Given the description of an element on the screen output the (x, y) to click on. 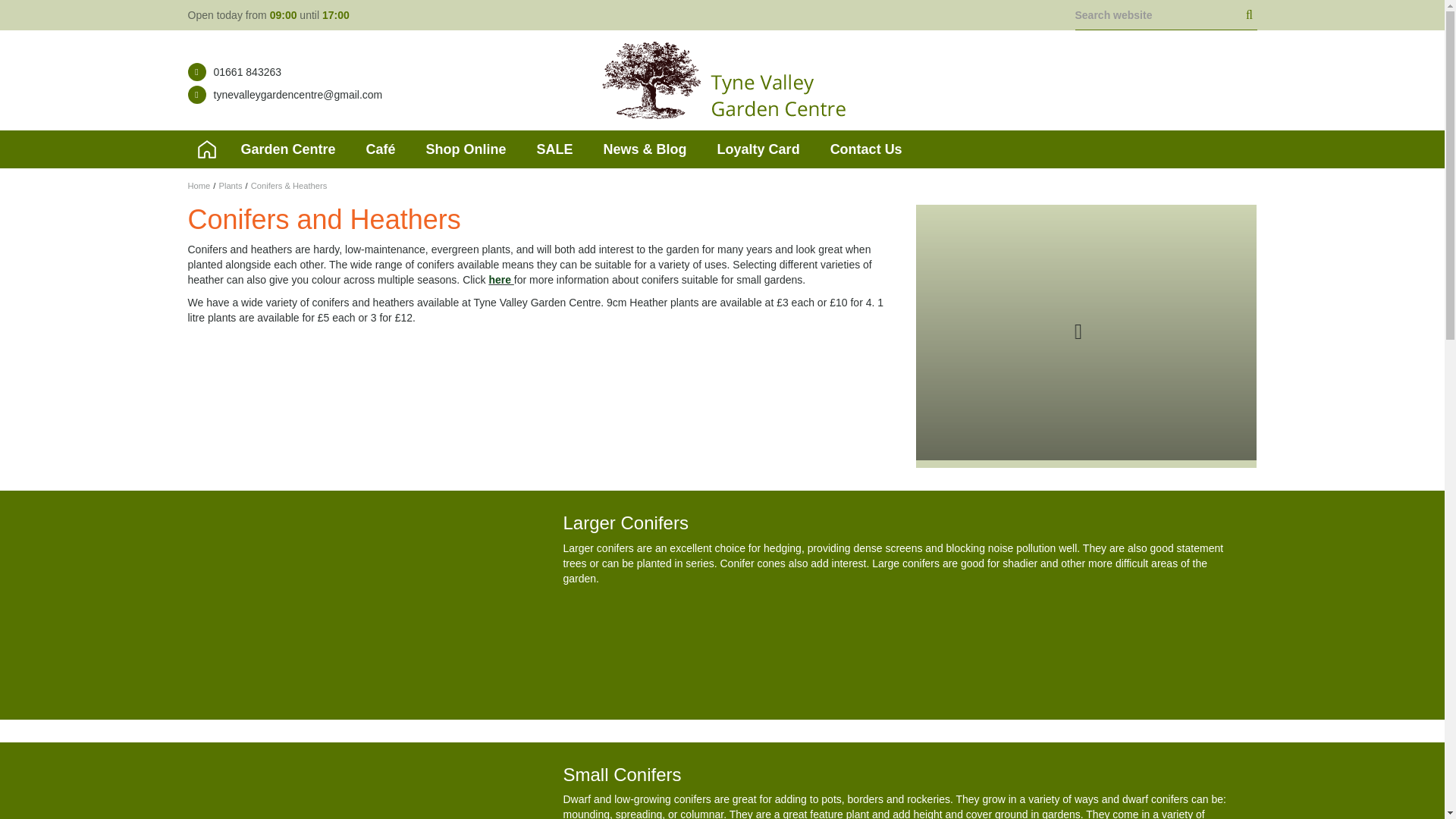
Tyne Valley Garden Centre in Stocksfield (721, 79)
Go to the shopping cart (1241, 82)
Search (1249, 14)
Home (199, 185)
Garden Centre (287, 149)
Plants (229, 185)
Home (199, 185)
Garden Centre (287, 149)
Home (206, 149)
Plants (229, 185)
